Given the description of an element on the screen output the (x, y) to click on. 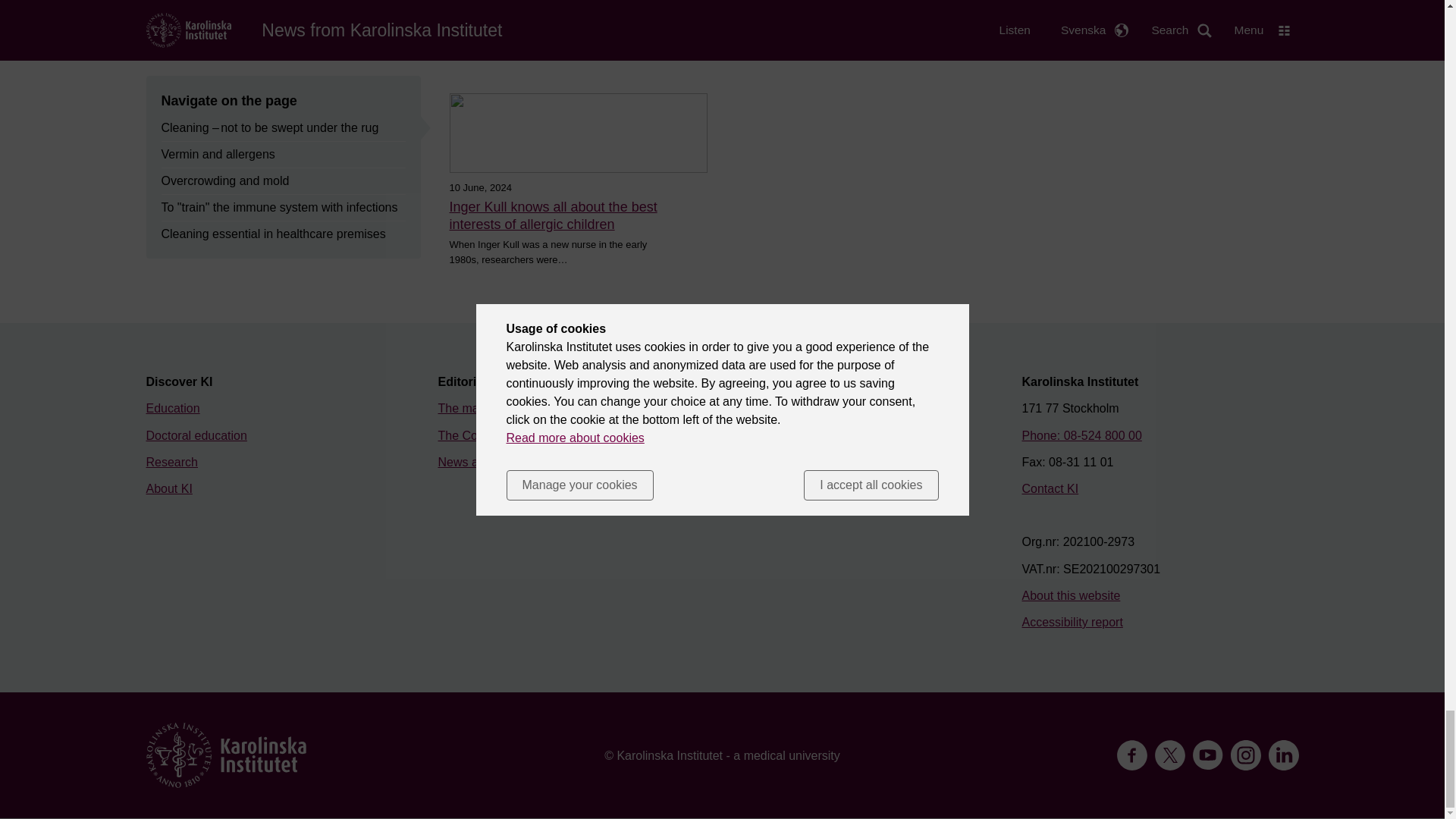
Home (225, 754)
